Given the description of an element on the screen output the (x, y) to click on. 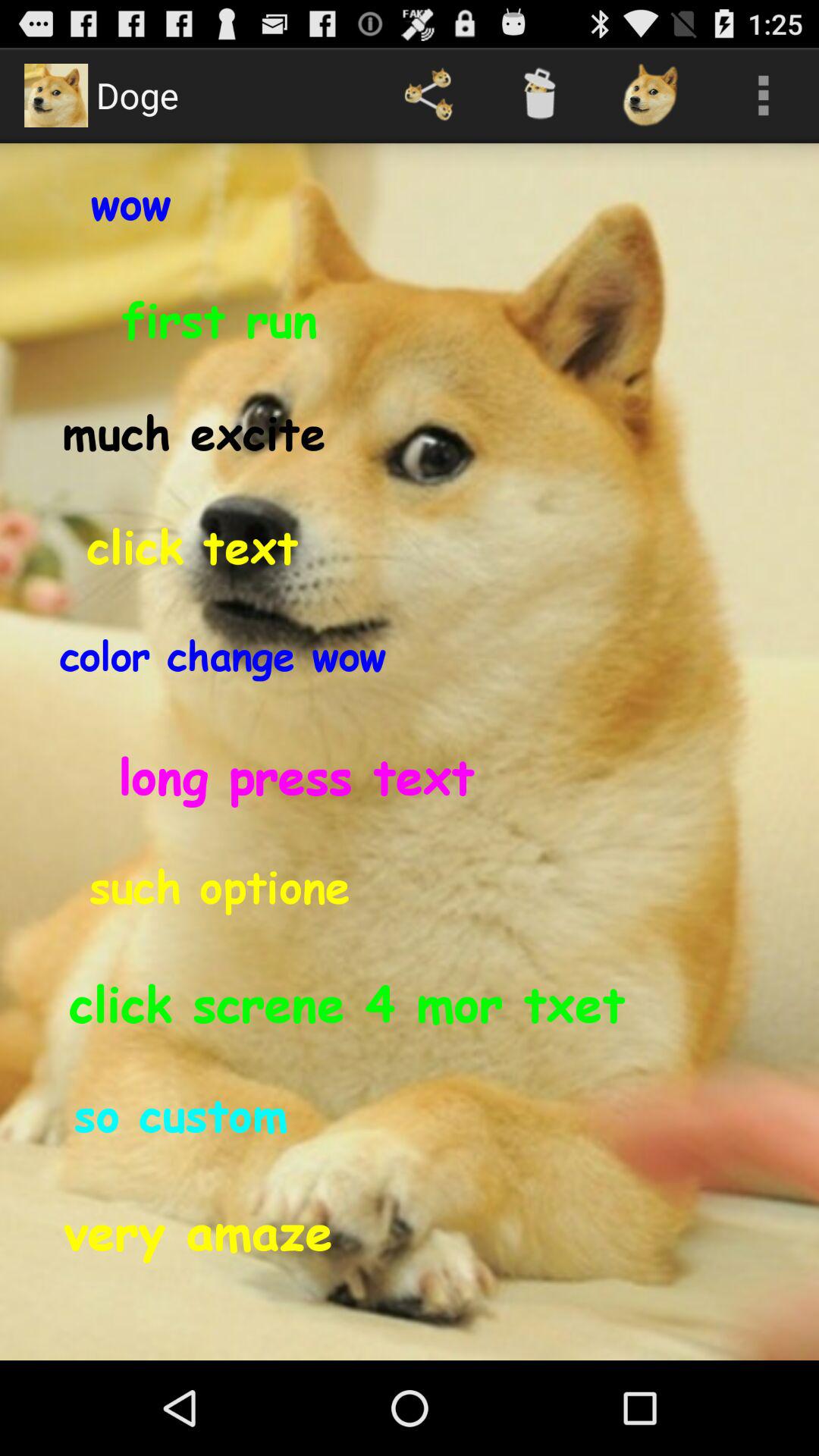
click on the dog icon which is placed right side of the delete icon (651, 95)
click on the dog image at top left (55, 95)
click on three dots at the top right corner (763, 95)
